Given the description of an element on the screen output the (x, y) to click on. 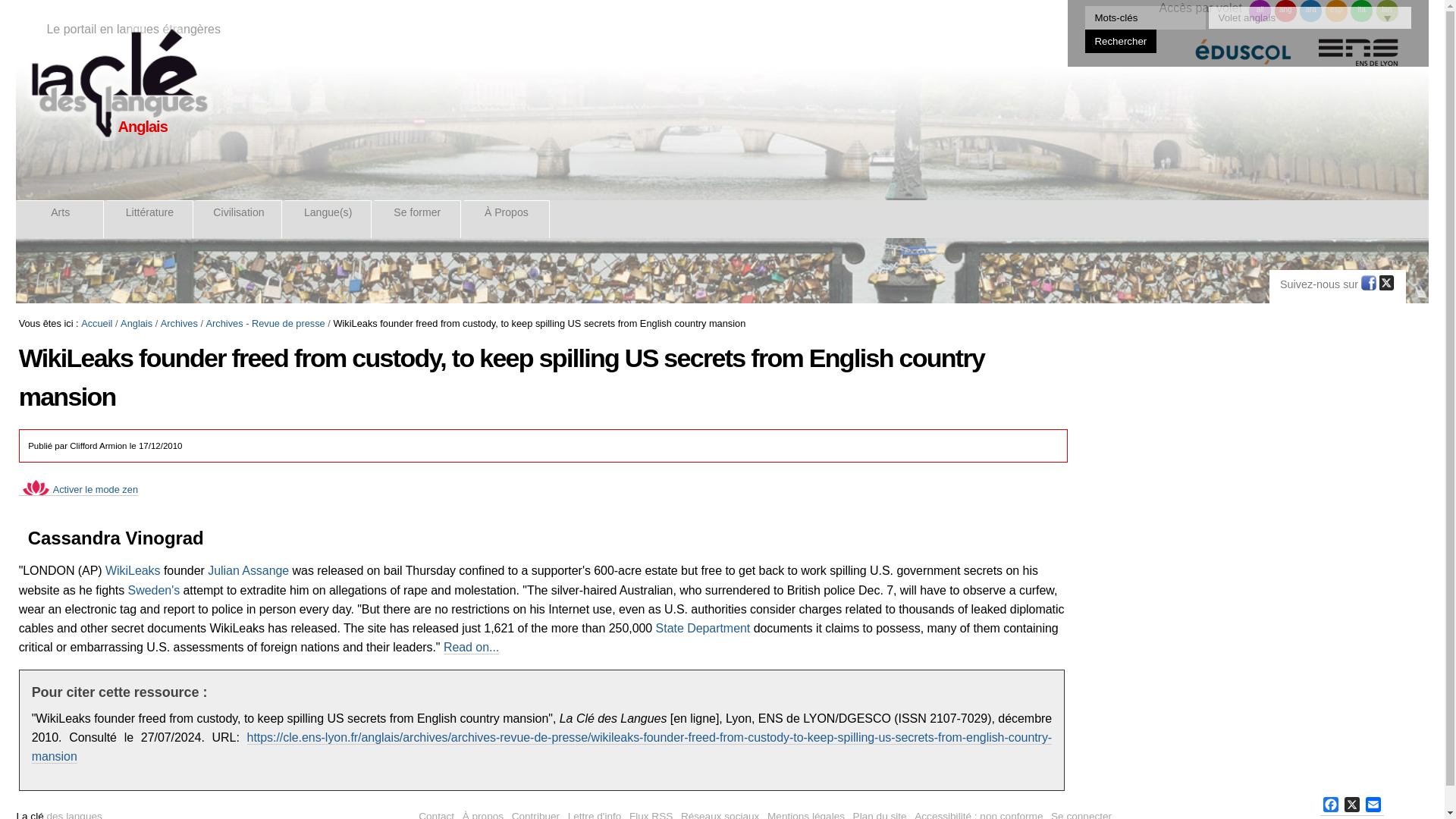
ita (1362, 11)
EduScol (1243, 59)
Rechercher (1120, 41)
Rechercher (1120, 41)
esp (1336, 11)
ENS Lyon (1358, 59)
Recherche (1145, 17)
Retour au portail (117, 82)
Rechercher (1120, 41)
Civilisation (239, 218)
lan (1386, 11)
ara (1311, 11)
all (1260, 11)
Arts (60, 218)
ang (1286, 11)
